Given the description of an element on the screen output the (x, y) to click on. 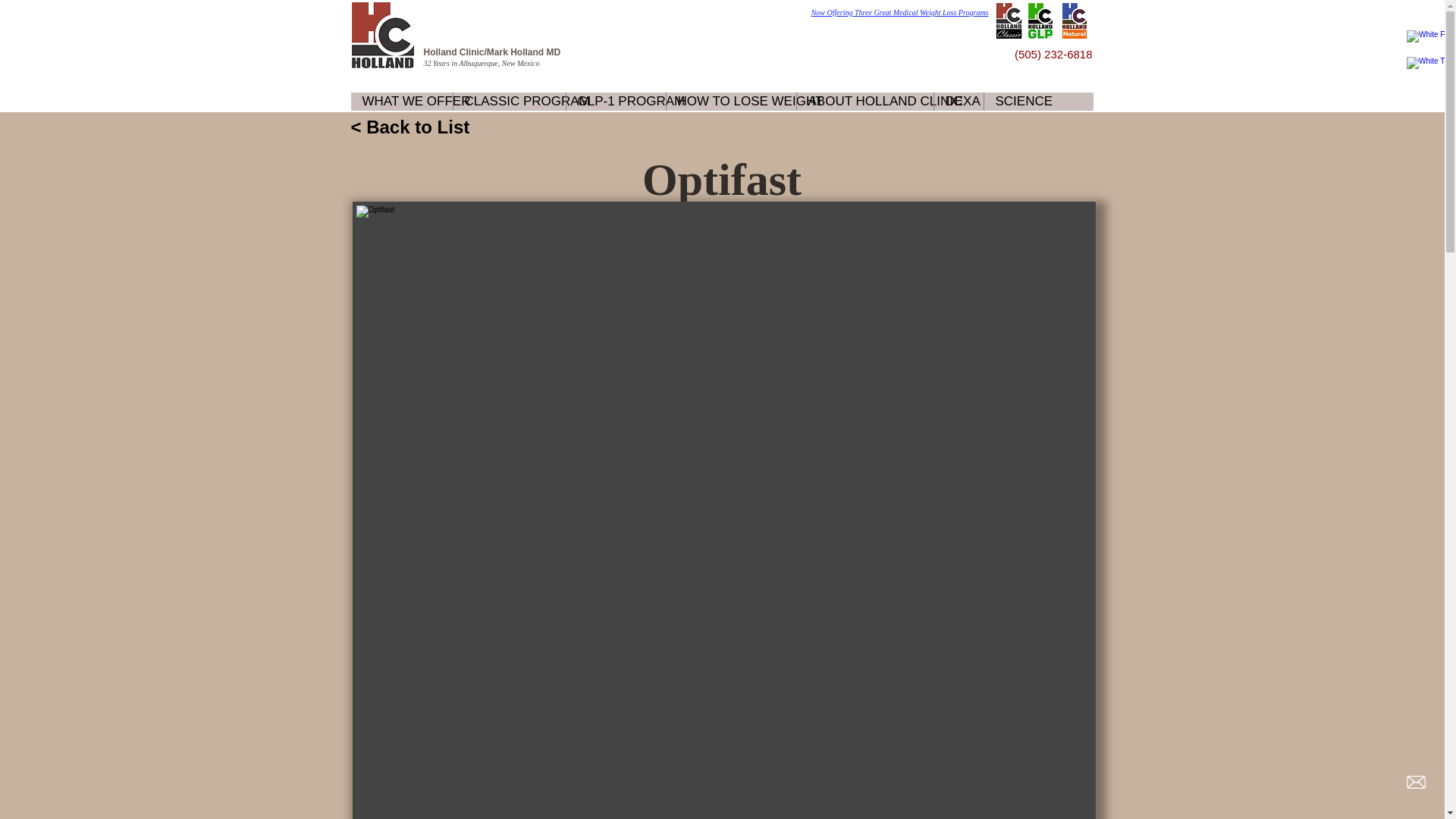
Now Offering Three Great Medical Weight Loss Programs (899, 12)
